Given the description of an element on the screen output the (x, y) to click on. 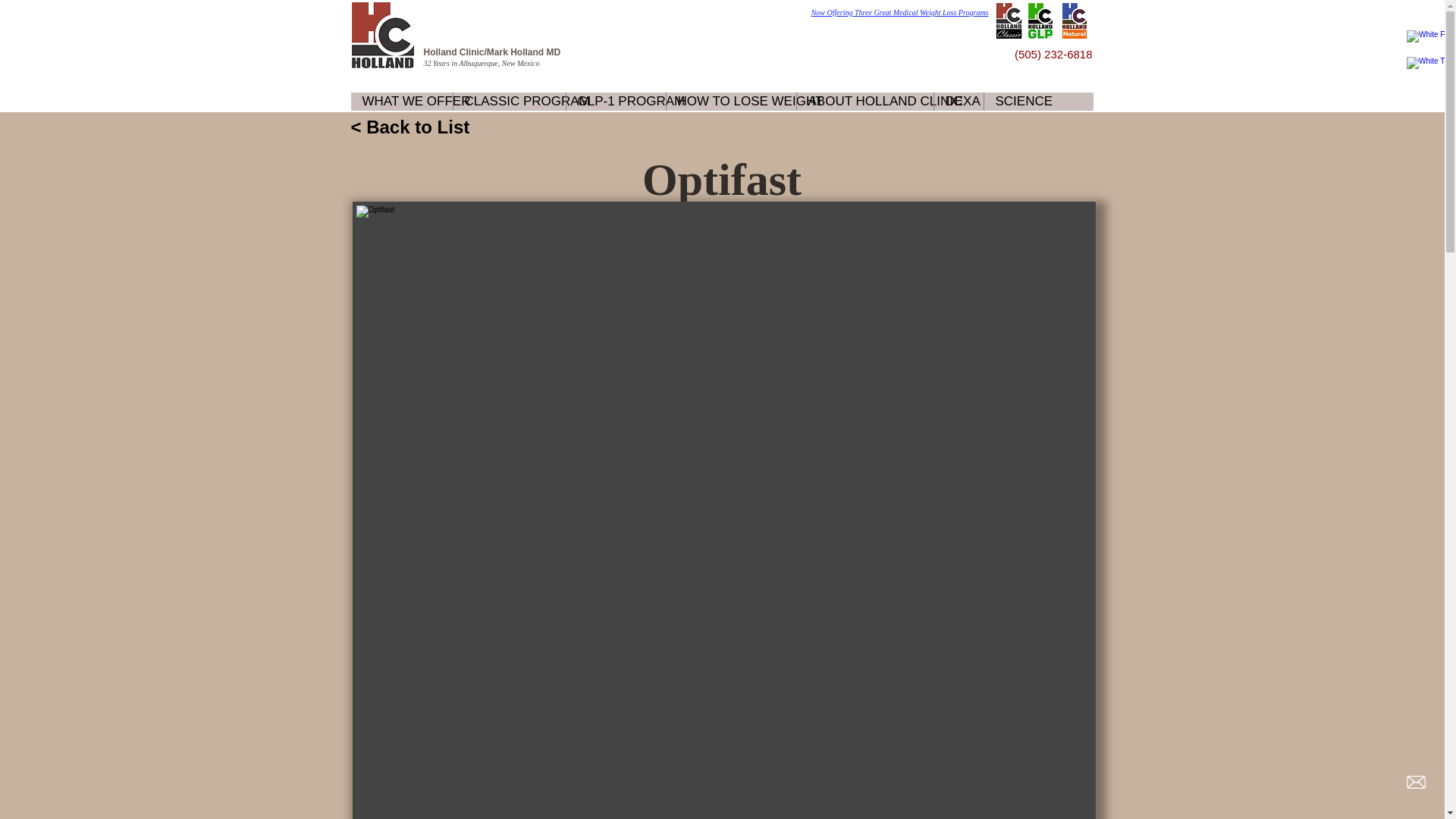
Now Offering Three Great Medical Weight Loss Programs (899, 12)
